Given the description of an element on the screen output the (x, y) to click on. 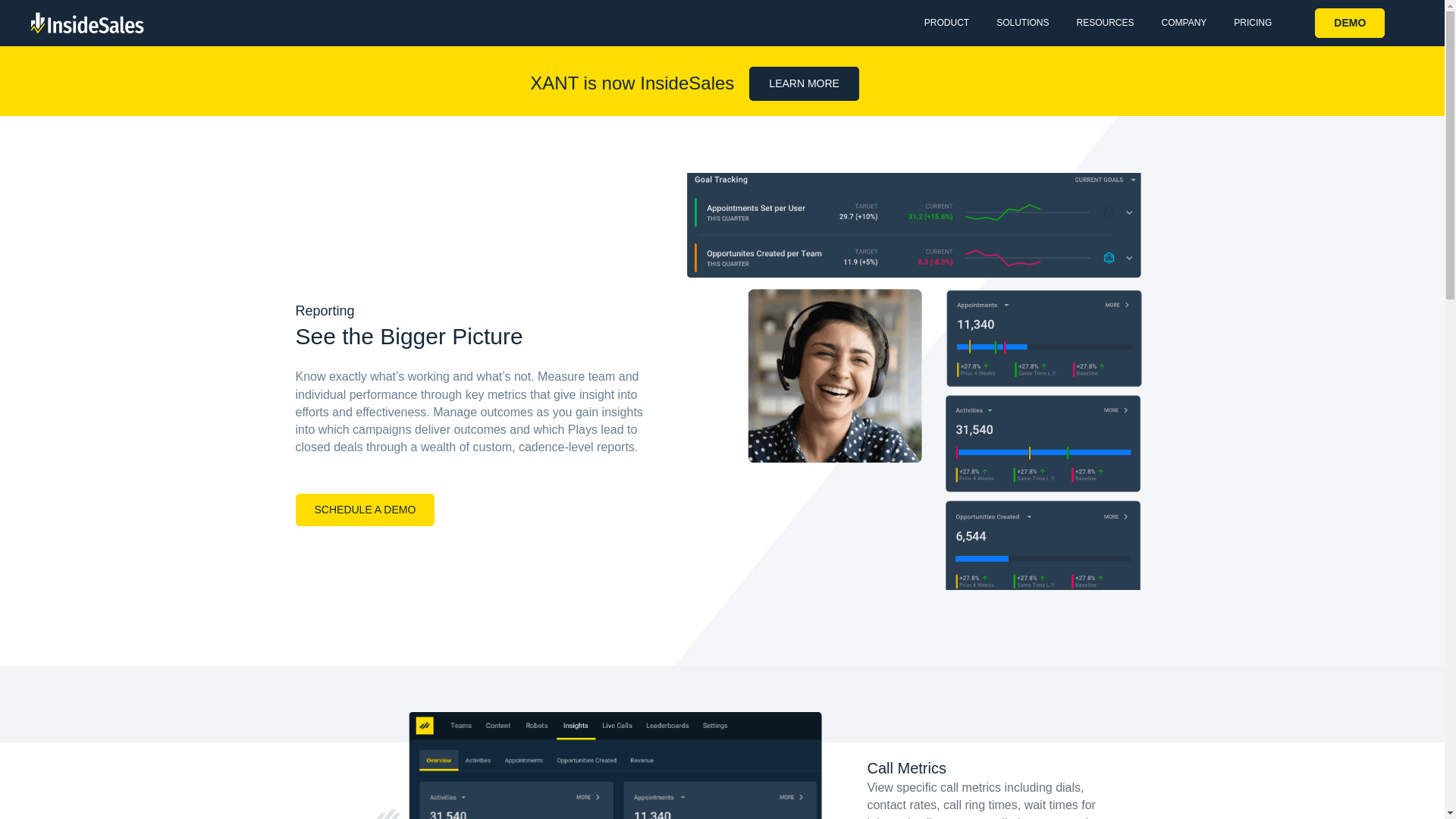
Sales Team Insight Dashboard (584, 760)
SOLUTIONS (1021, 22)
RESOURCES (1104, 22)
PRODUCT (946, 22)
